Given the description of an element on the screen output the (x, y) to click on. 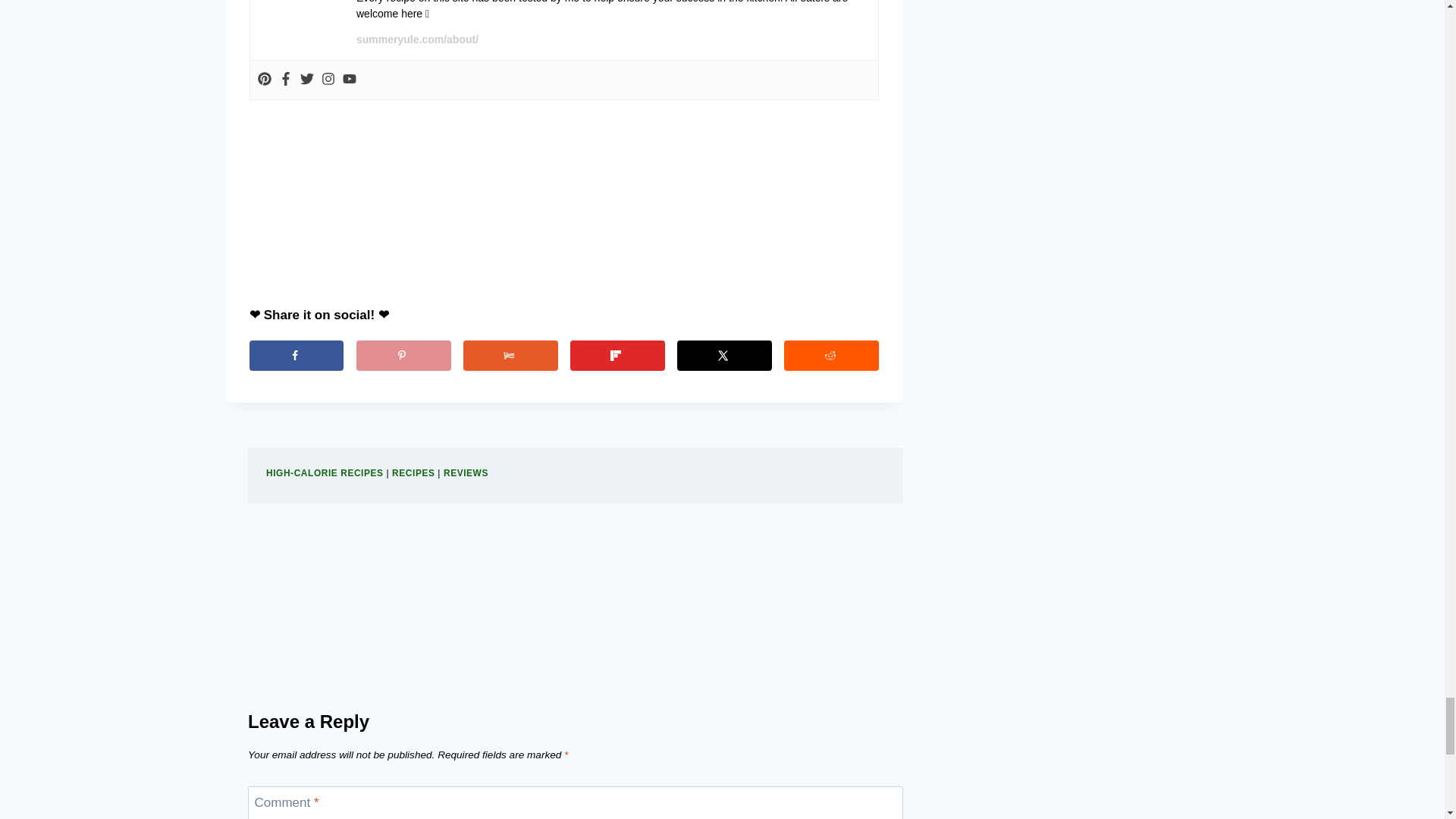
Share on Flipboard (616, 355)
Share on X (724, 355)
Save to Pinterest (402, 355)
Share on Yummly (510, 355)
Share on Facebook (295, 355)
Share on Reddit (830, 355)
